Given the description of an element on the screen output the (x, y) to click on. 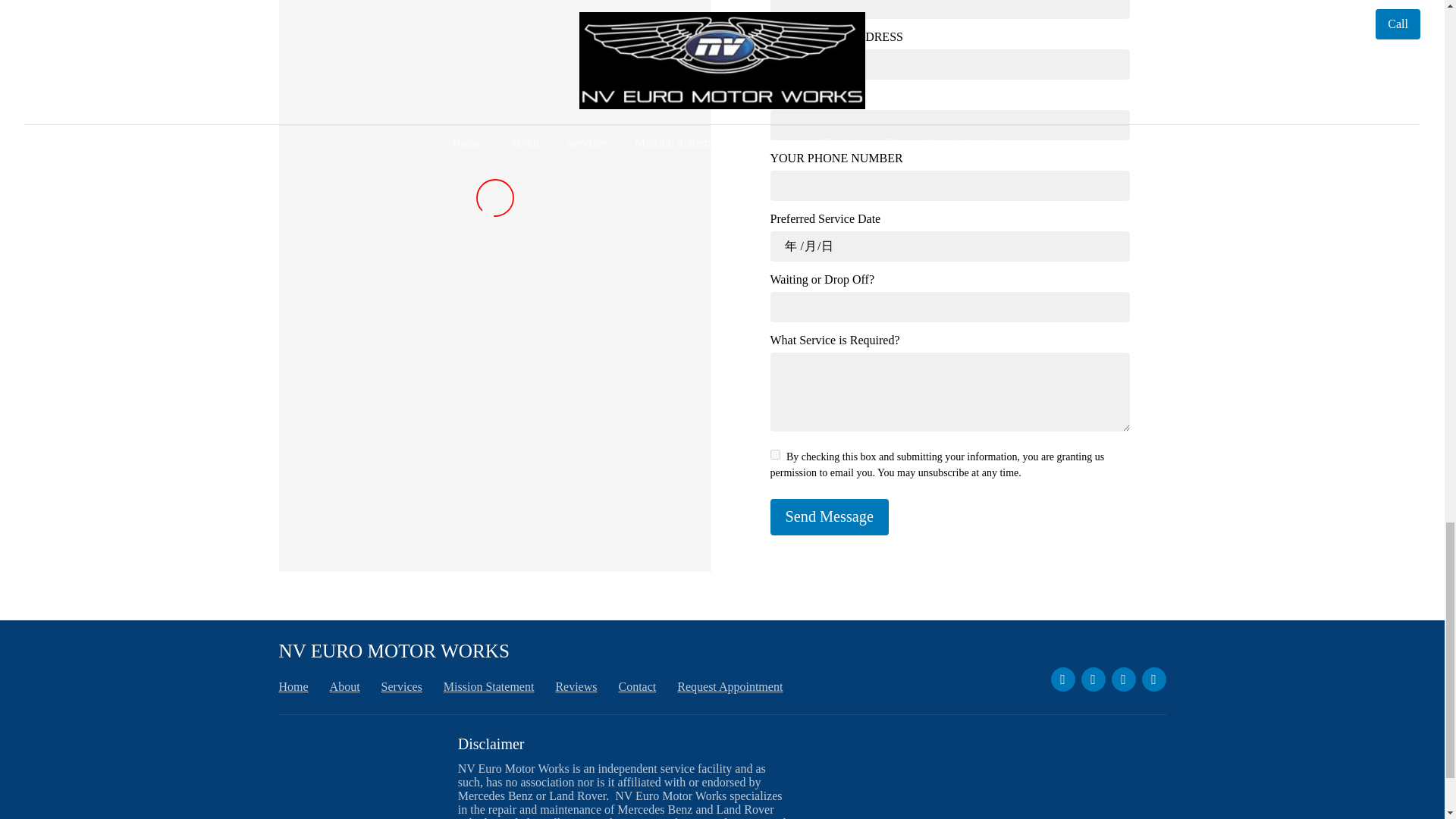
Home (293, 686)
Contact (636, 686)
Send Message (829, 516)
Request Appointment (730, 686)
Mission Statement (489, 686)
Services (401, 686)
Reviews (575, 686)
About (344, 686)
false (775, 454)
